Given the description of an element on the screen output the (x, y) to click on. 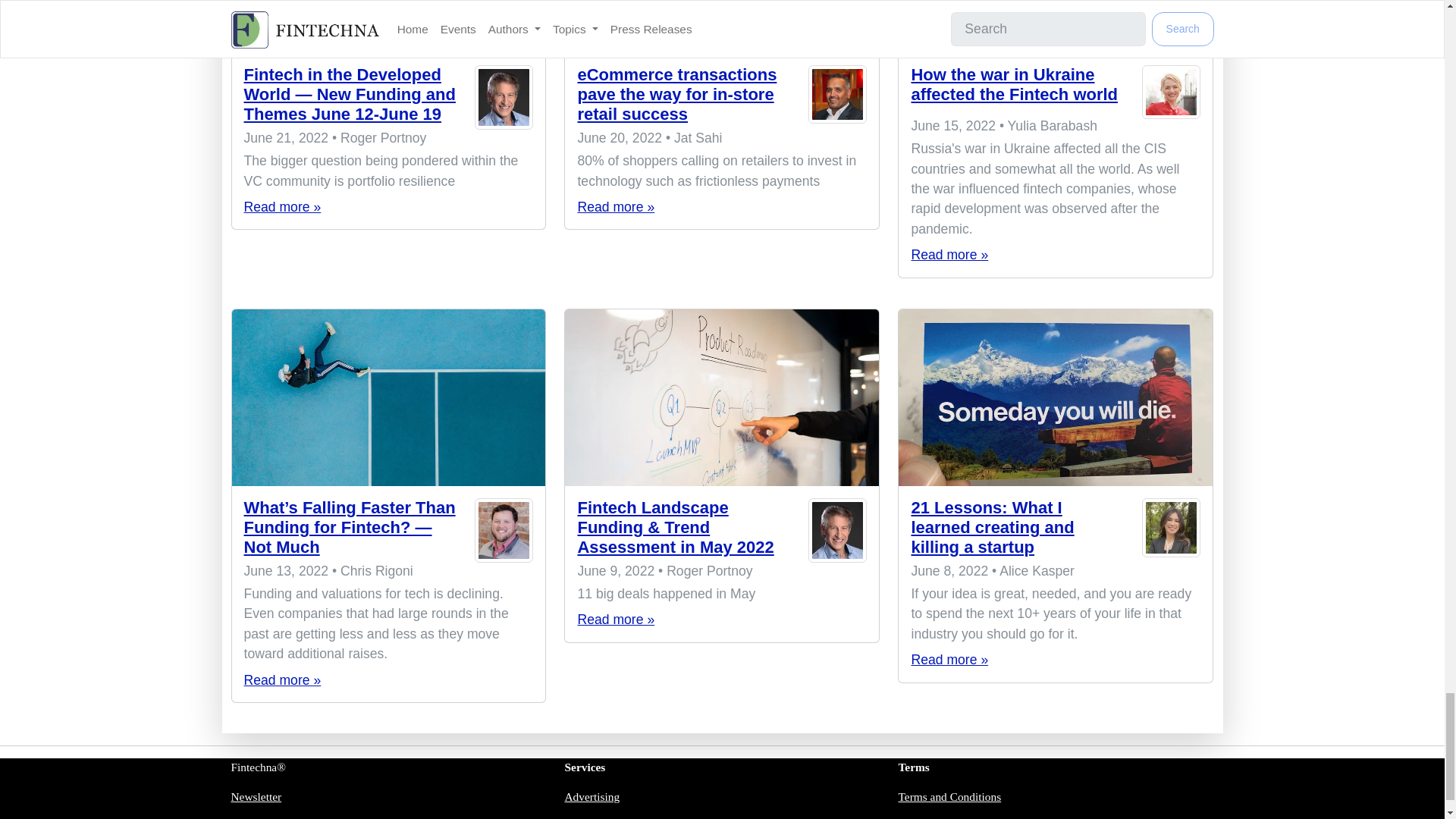
Roger Portnoy (503, 98)
How the war in Ukraine affected the Fintech world (1014, 84)
Jat Sahi (837, 98)
Yulia Barabash (1170, 91)
Chris Rigoni (503, 530)
How the war in Ukraine affected the Fintech world (949, 254)
How the war in Ukraine affected the Fintech world (1055, 26)
